Given the description of an element on the screen output the (x, y) to click on. 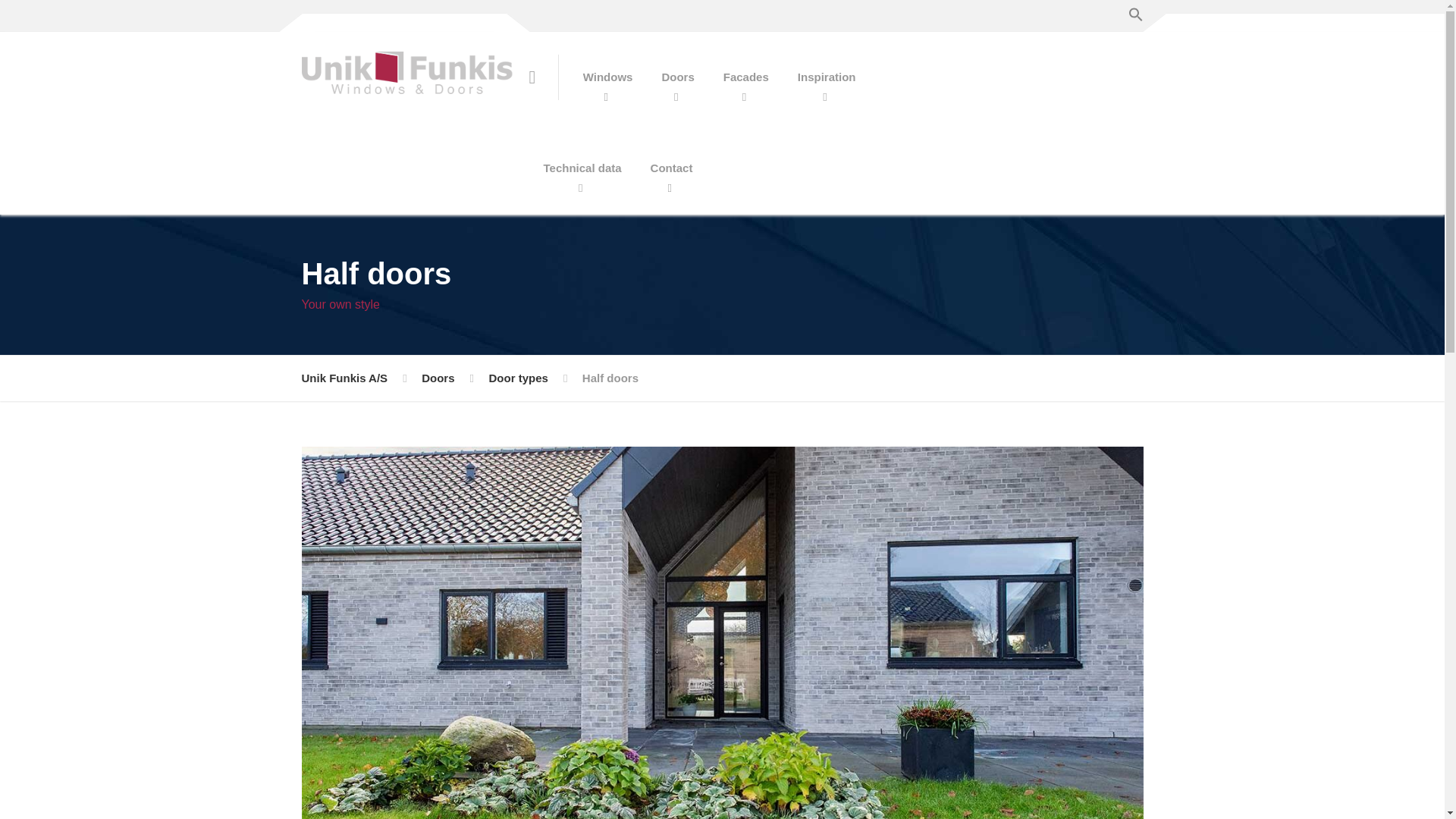
Windows (608, 76)
Doors (676, 76)
Facades (746, 76)
Technical data (582, 167)
Inspiration (826, 76)
